Given the description of an element on the screen output the (x, y) to click on. 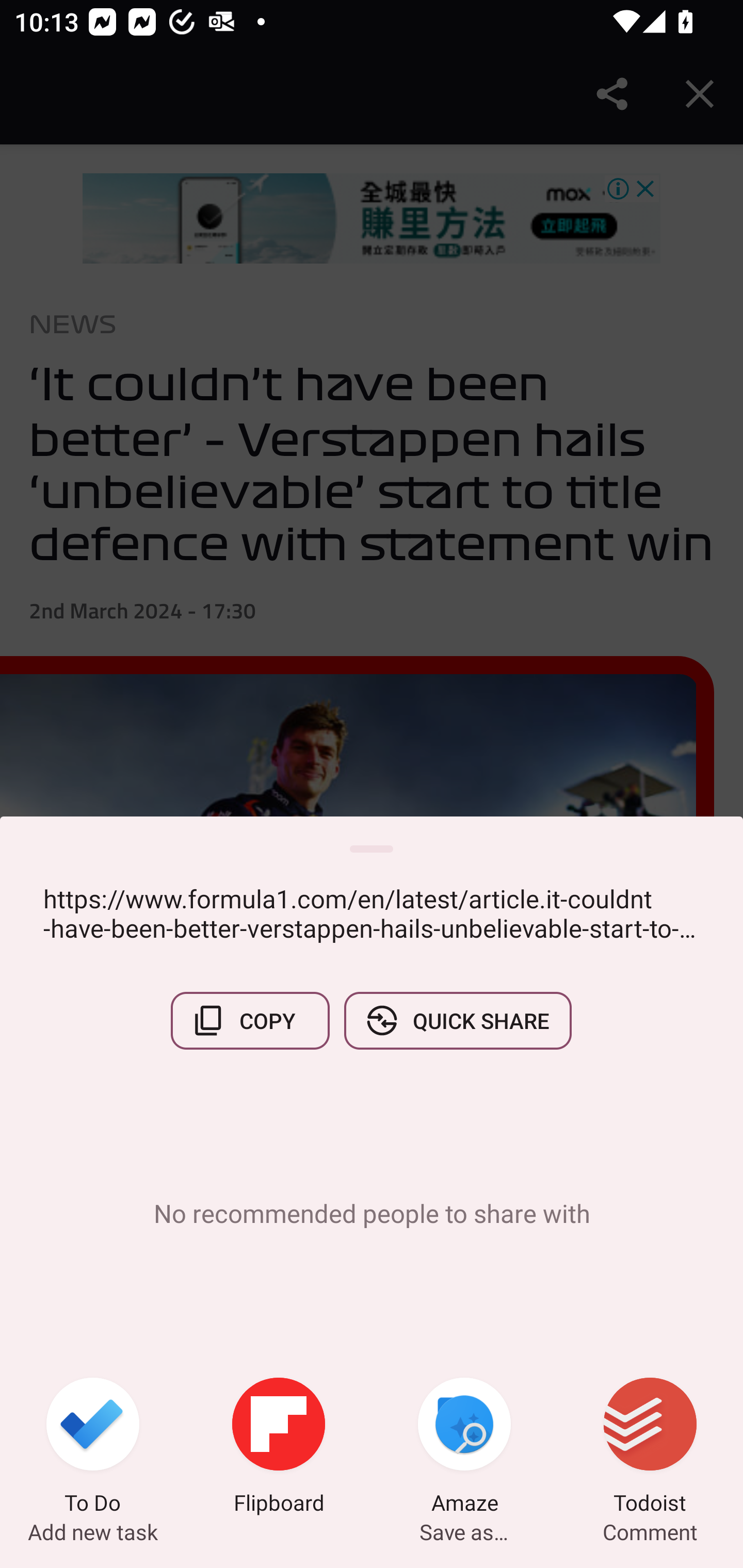
COPY (249, 1020)
QUICK SHARE (457, 1020)
To Do Add new task (92, 1448)
Flipboard (278, 1448)
Amaze Save as… (464, 1448)
Todoist Comment (650, 1448)
